Given the description of an element on the screen output the (x, y) to click on. 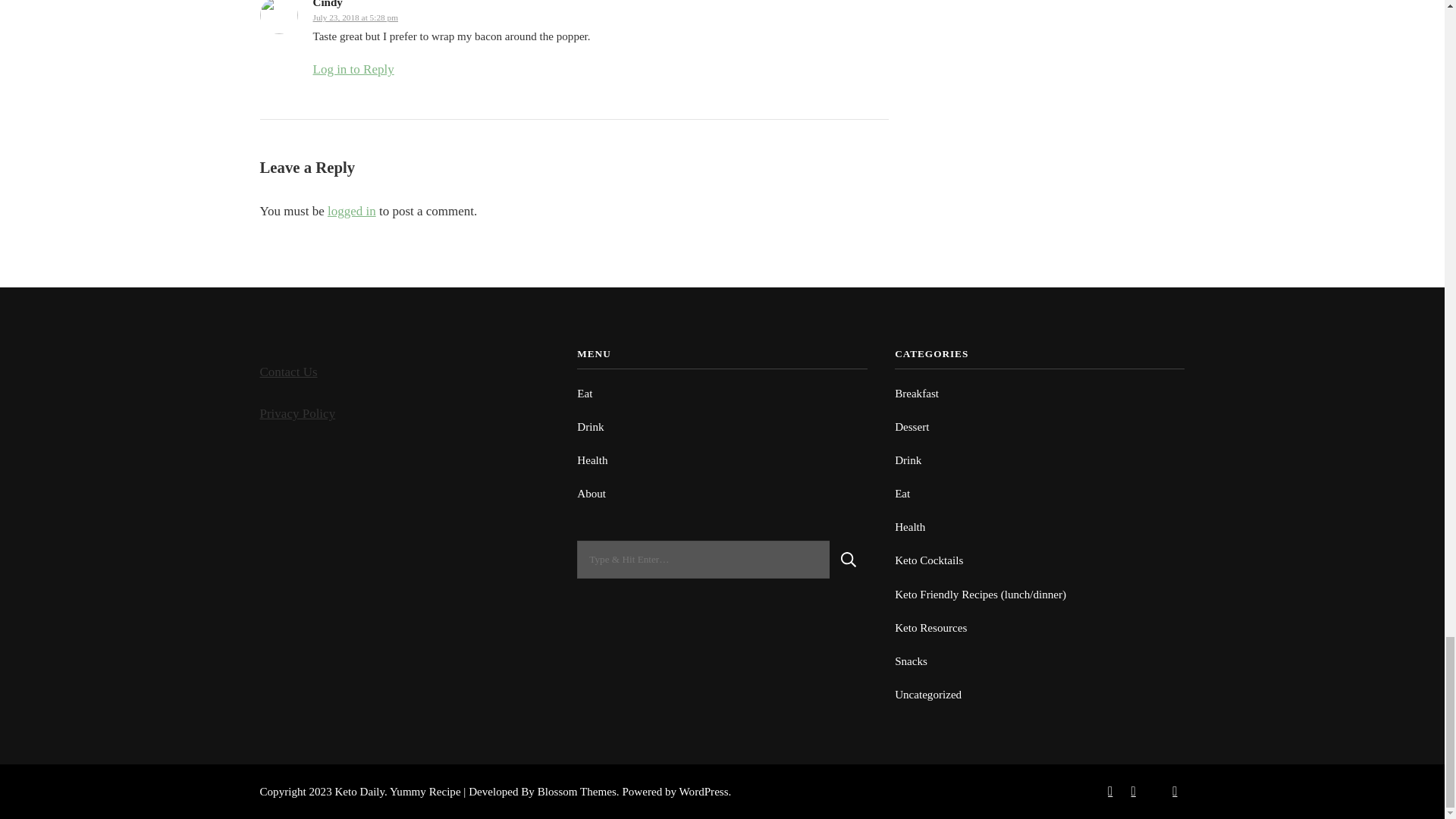
Search (848, 559)
Search (848, 559)
